Given the description of an element on the screen output the (x, y) to click on. 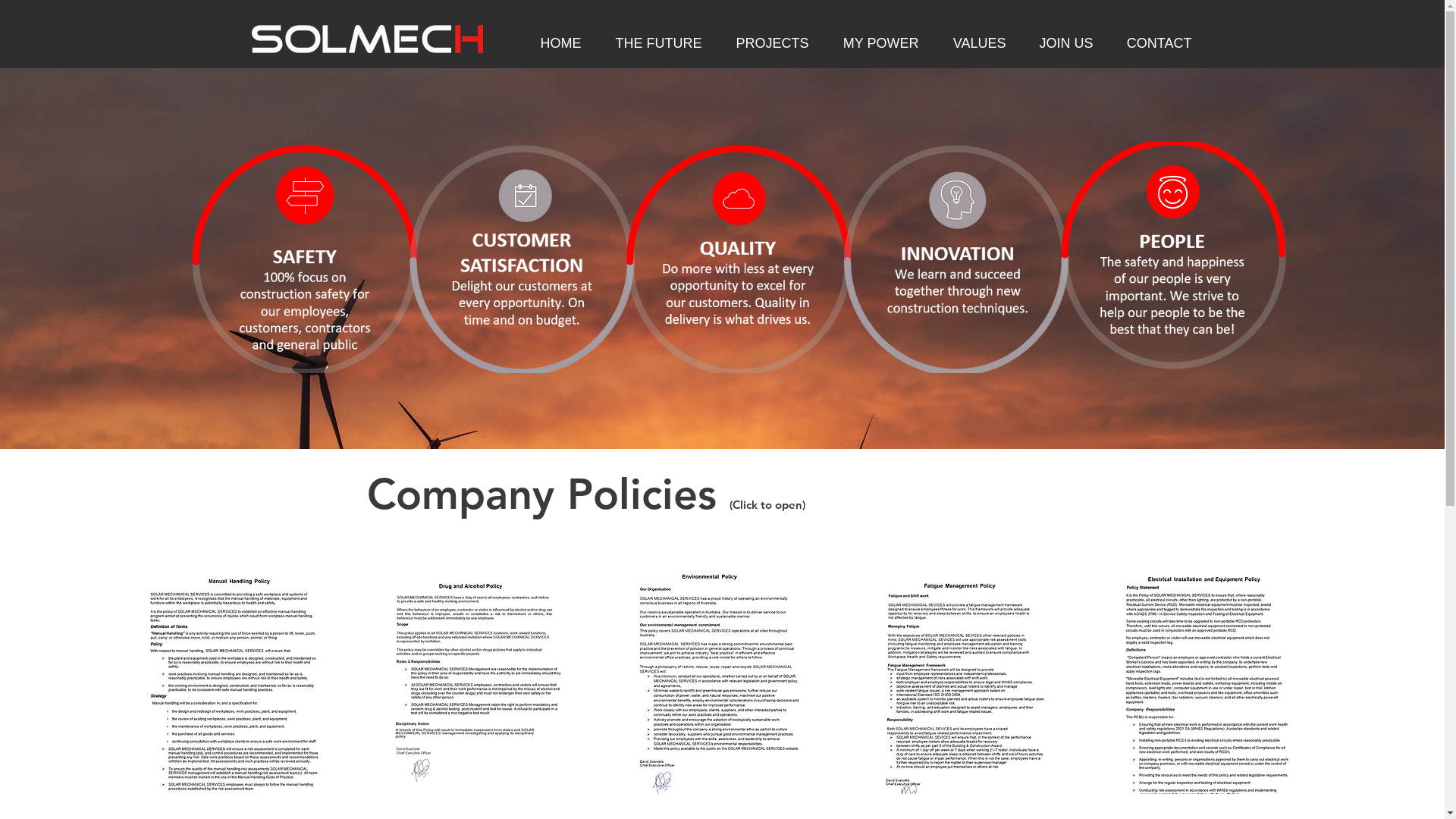
MY POWER Element type: text (875, 43)
THE FUTURE Element type: text (653, 43)
VALUES Element type: text (972, 43)
JOIN US Element type: text (1060, 43)
CONTACT Element type: text (1153, 43)
PROJECTS Element type: text (765, 43)
HOME Element type: text (554, 43)
